Given the description of an element on the screen output the (x, y) to click on. 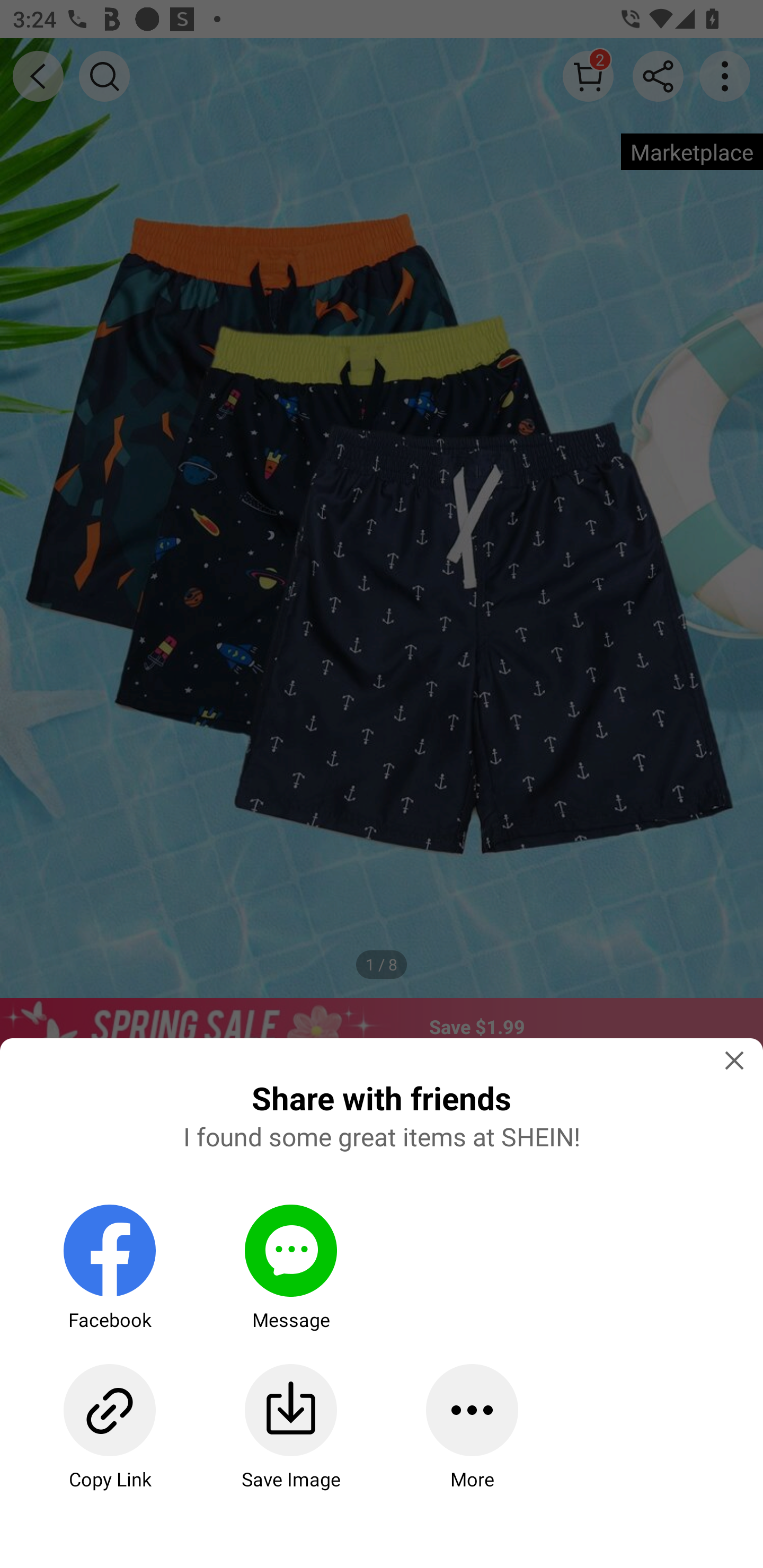
Facebook (109, 1268)
Message (290, 1268)
Copy Link (109, 1427)
Save Image (290, 1427)
More (472, 1427)
